Given the description of an element on the screen output the (x, y) to click on. 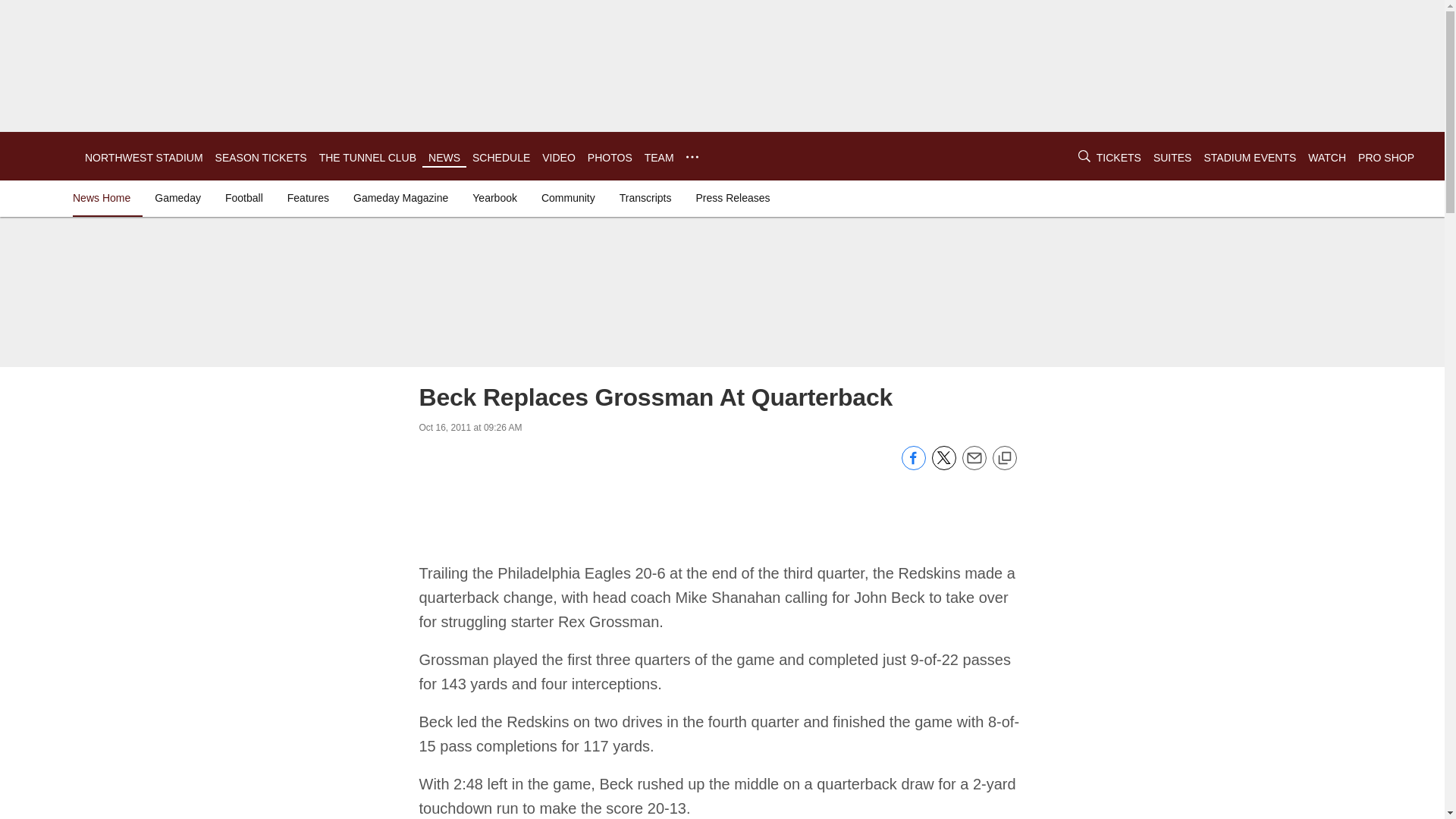
Transcripts (645, 197)
PHOTOS (609, 157)
Features (307, 197)
VIDEO (558, 157)
PHOTOS (609, 157)
VIDEO (558, 157)
SEASON TICKETS (261, 157)
NORTHWEST STADIUM (143, 157)
NEWS (444, 157)
NEWS (444, 157)
